Given the description of an element on the screen output the (x, y) to click on. 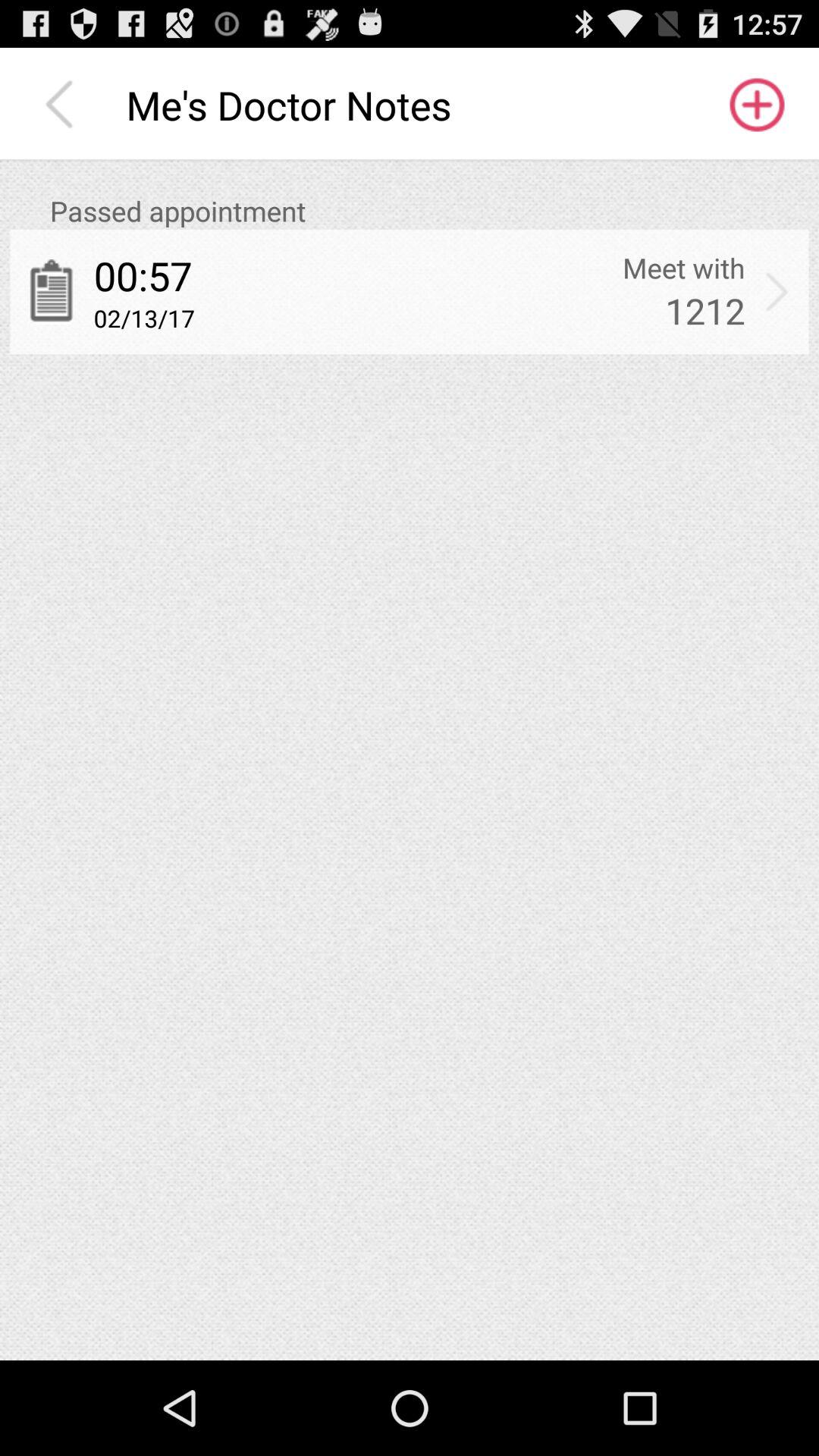
turn on app next to 00:57 app (683, 267)
